Given the description of an element on the screen output the (x, y) to click on. 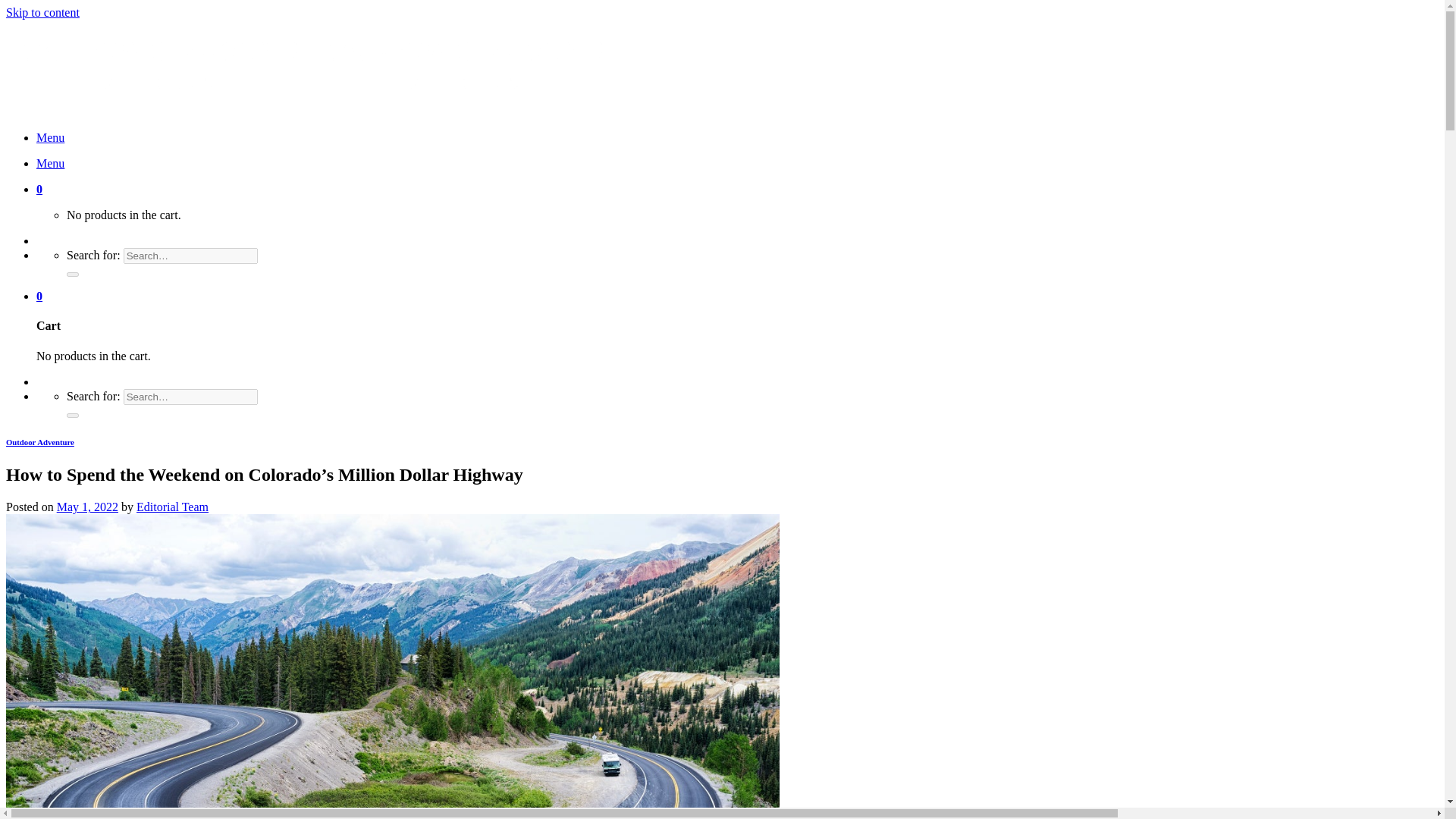
Skip to content (42, 11)
Menu (50, 163)
Outdoor Adventure (39, 440)
Menu (50, 137)
Search (72, 273)
May 1, 2022 (86, 506)
Search (72, 415)
Editorial Team (172, 506)
